Given the description of an element on the screen output the (x, y) to click on. 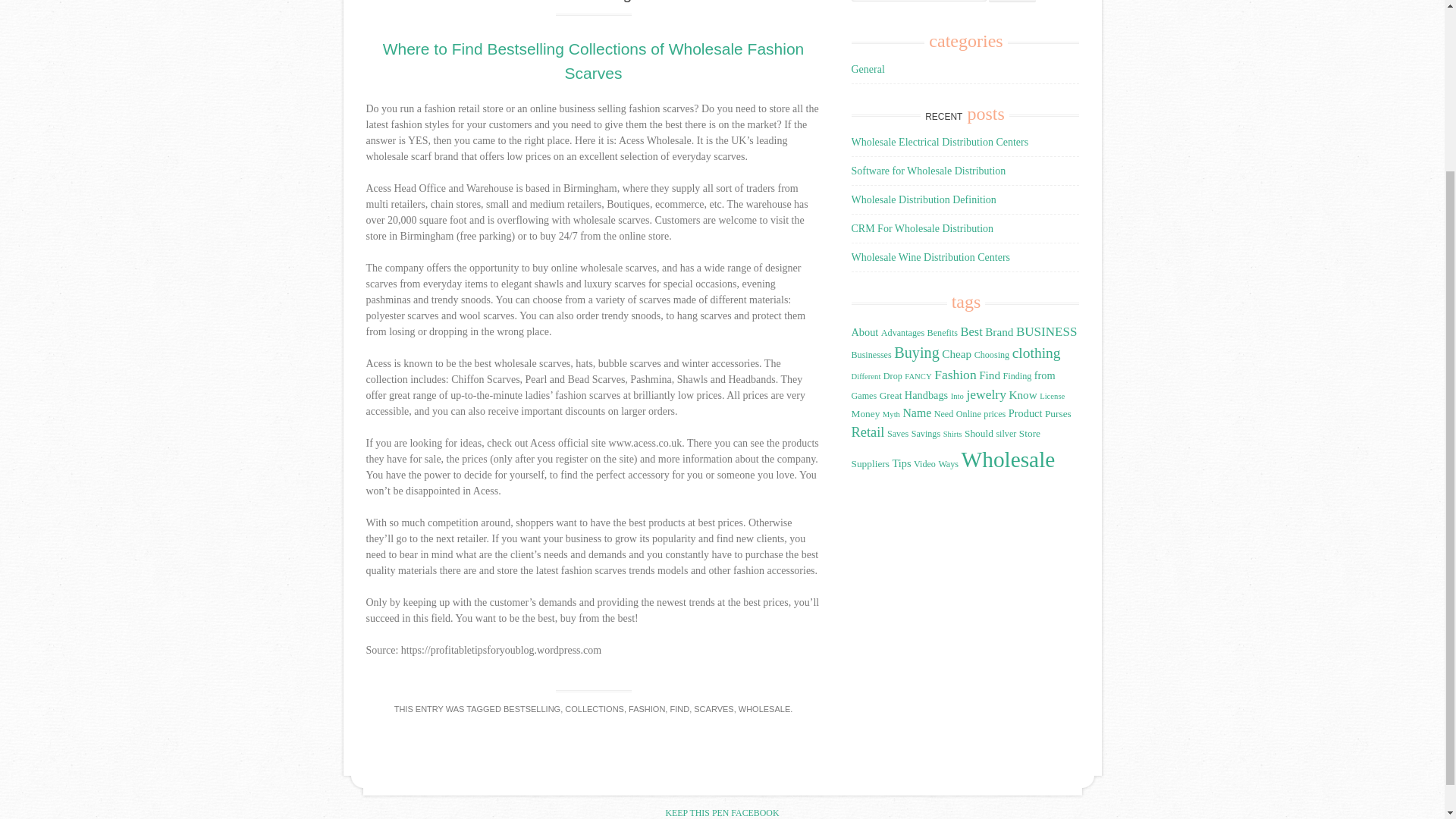
WHOLESALE (764, 708)
General (866, 69)
Great (890, 395)
Different (865, 376)
Benefits (942, 332)
Wholesale Electrical Distribution Centers (938, 142)
FIND (678, 708)
Search (1011, 1)
About (863, 331)
Search (1011, 1)
Software for Wholesale Distribution (928, 170)
Advantages (902, 332)
FASHION (646, 708)
BESTSELLING (531, 708)
Finding (1017, 376)
